Given the description of an element on the screen output the (x, y) to click on. 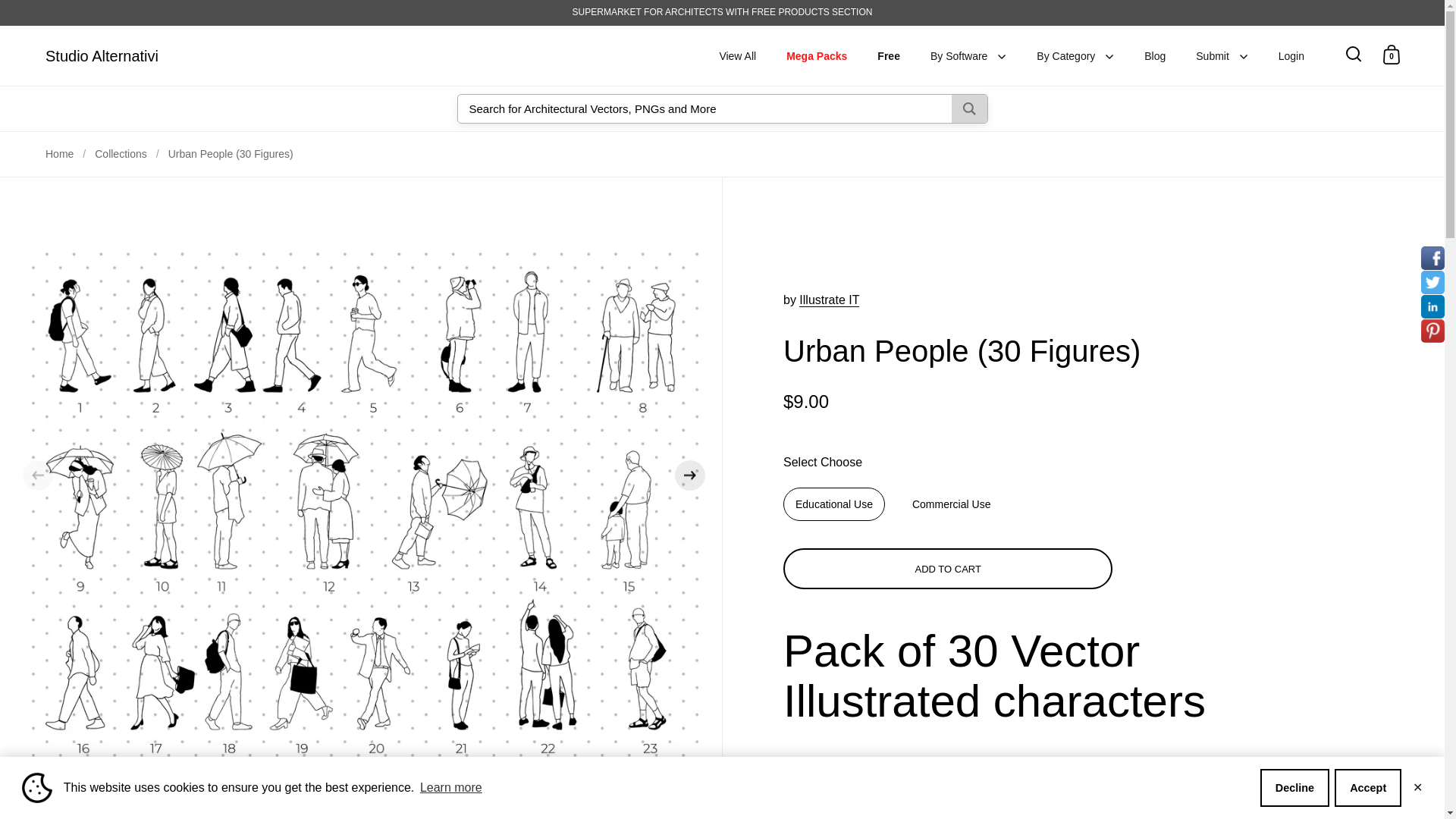
Illustrate IT (829, 300)
Open cart (1390, 54)
Accept (1367, 787)
Open search (1353, 54)
By Software (968, 55)
Free (888, 55)
ADD TO CART (946, 568)
Login (1291, 55)
Mega Packs (816, 55)
